Given the description of an element on the screen output the (x, y) to click on. 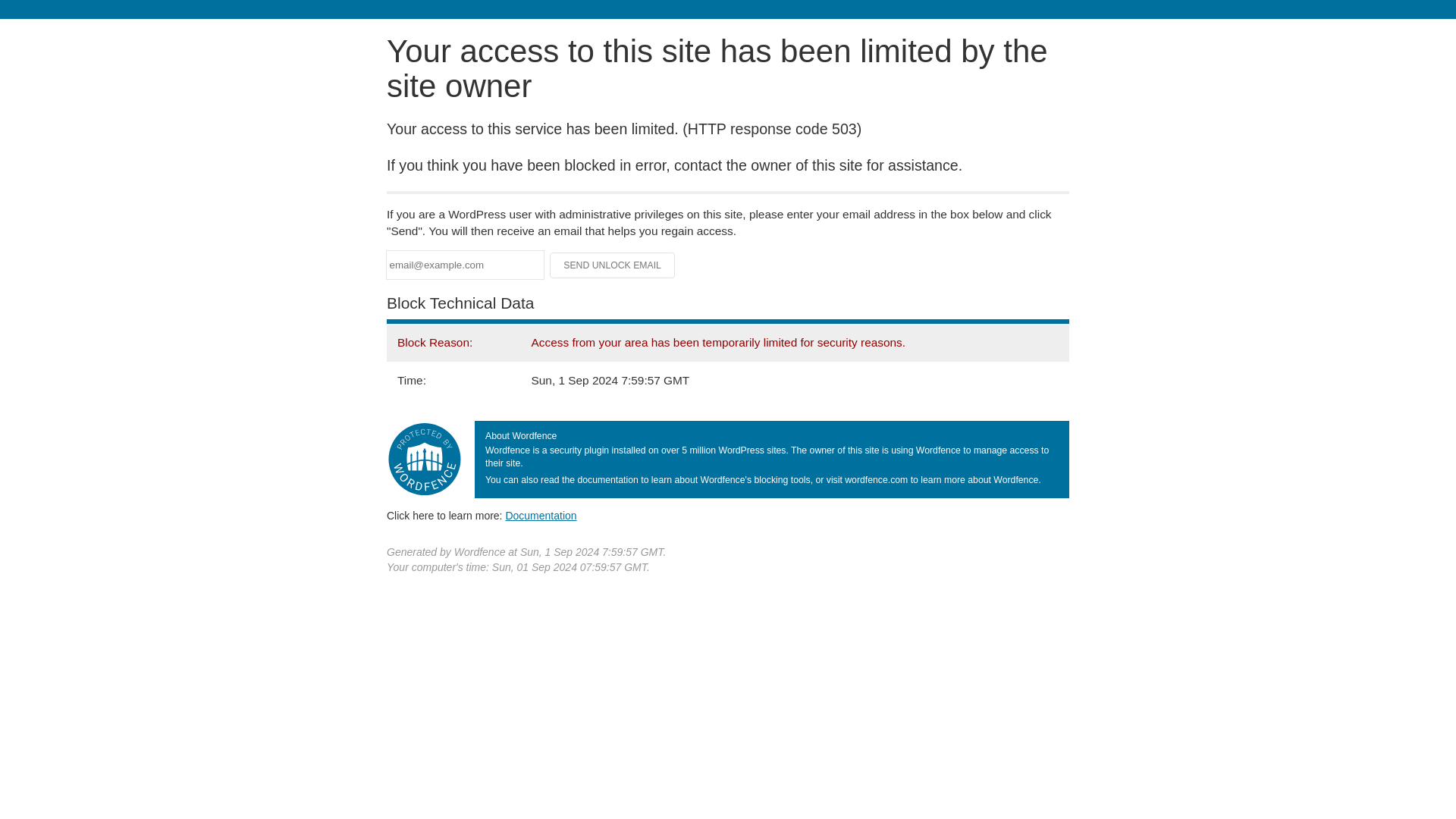
Send Unlock Email (612, 265)
Documentation (540, 515)
Send Unlock Email (612, 265)
